Given the description of an element on the screen output the (x, y) to click on. 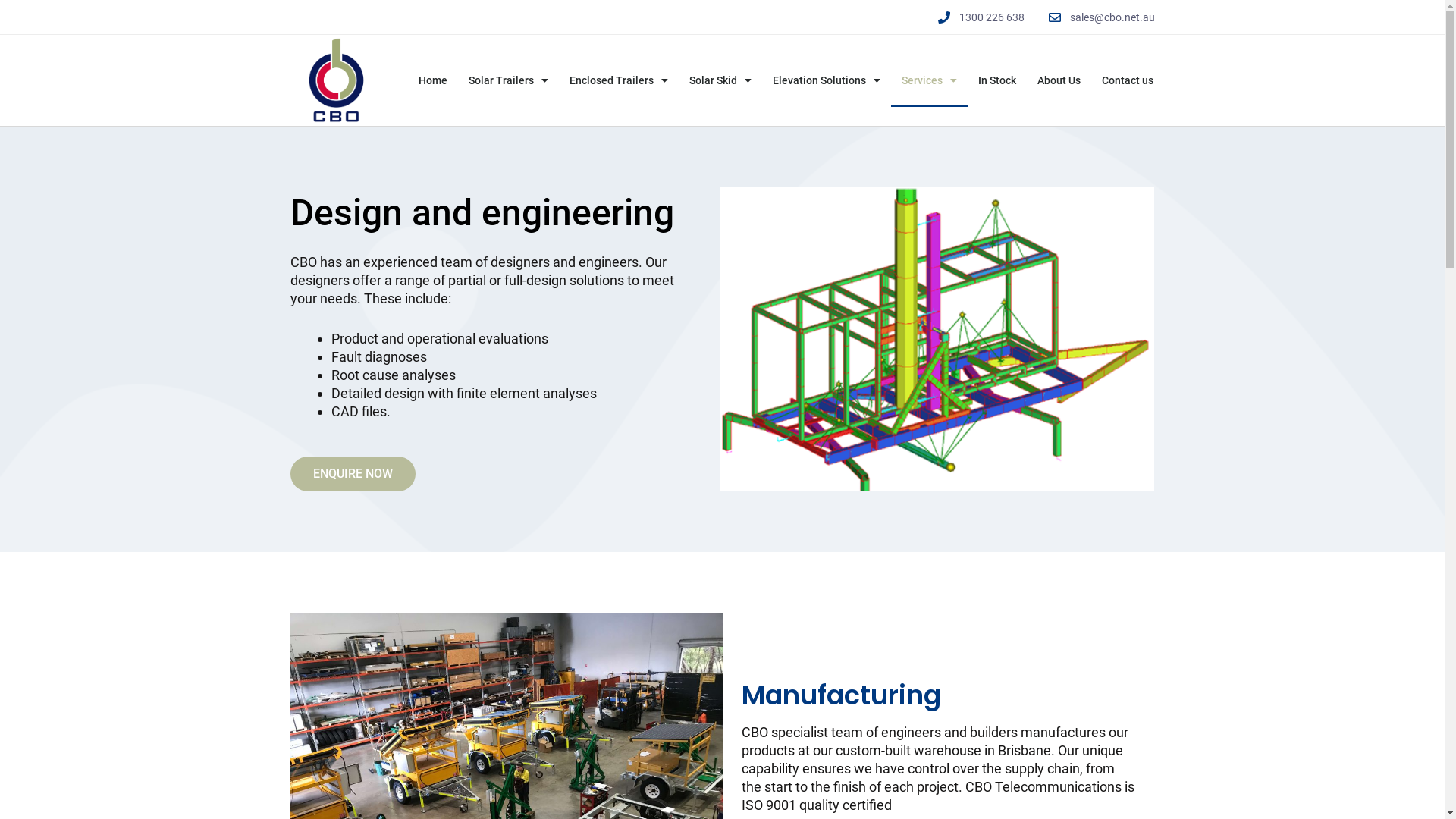
Services Element type: text (929, 79)
Contact us Element type: text (1127, 79)
ENQUIRE NOW Element type: text (351, 473)
Solar Skid Element type: text (720, 79)
Home Element type: text (432, 79)
Solar Trailers Element type: text (508, 79)
Enclosed Trailers Element type: text (618, 79)
sales@cbo.net.au Element type: text (1099, 16)
Elevation Solutions Element type: text (826, 79)
In Stock Element type: text (996, 79)
About Us Element type: text (1058, 79)
